Given the description of an element on the screen output the (x, y) to click on. 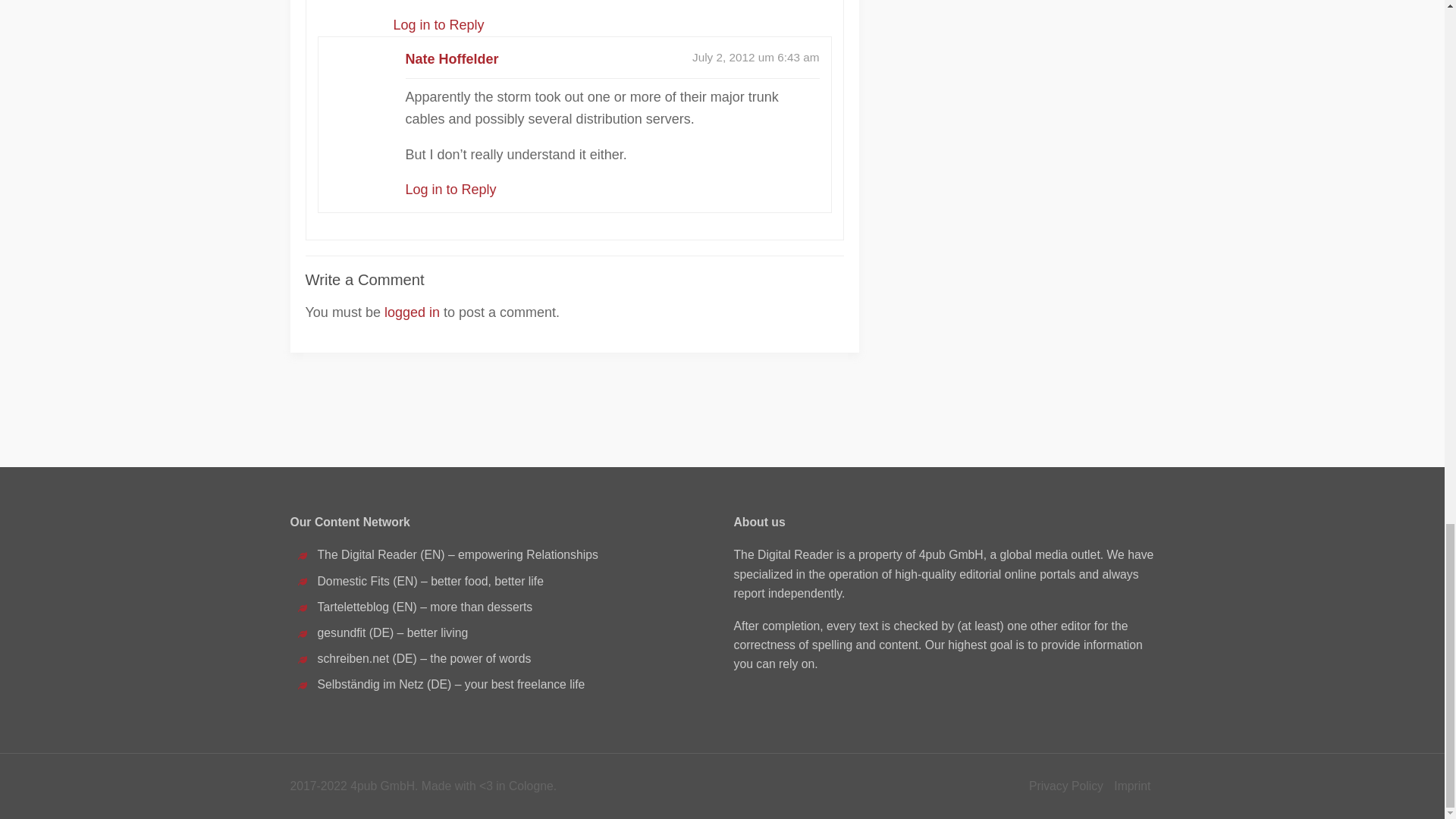
Log in to Reply (450, 189)
Log in to Reply (438, 24)
logged in (411, 312)
